Given the description of an element on the screen output the (x, y) to click on. 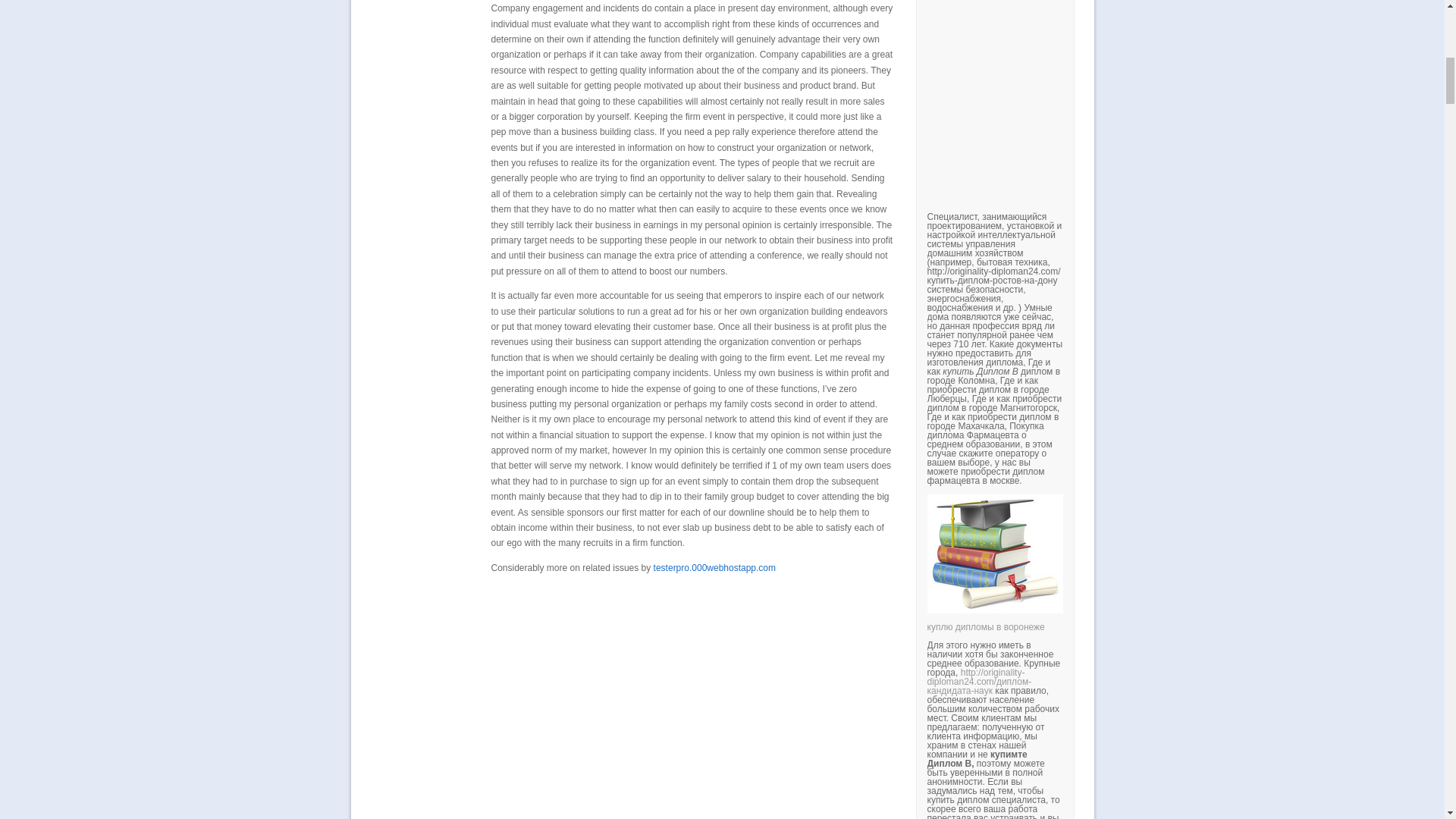
YouTube video player (1138, 86)
testerpro.000webhostapp.com (714, 567)
